Given the description of an element on the screen output the (x, y) to click on. 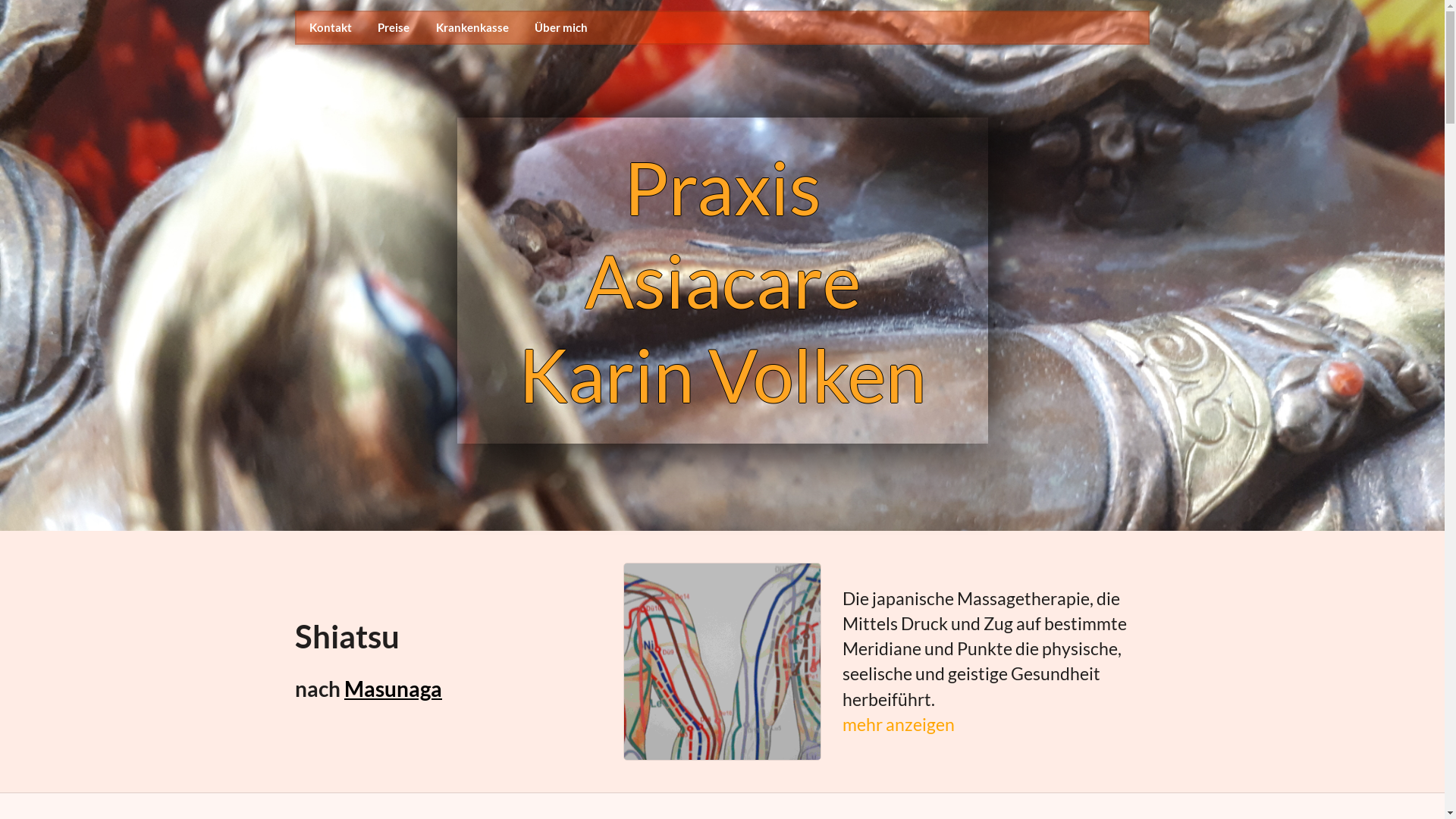
Kontakt Element type: text (330, 28)
Preise Element type: text (393, 28)
Krankenkasse Element type: text (472, 28)
Masunaga Element type: text (393, 688)
mehr anzeigen Element type: text (995, 724)
